Given the description of an element on the screen output the (x, y) to click on. 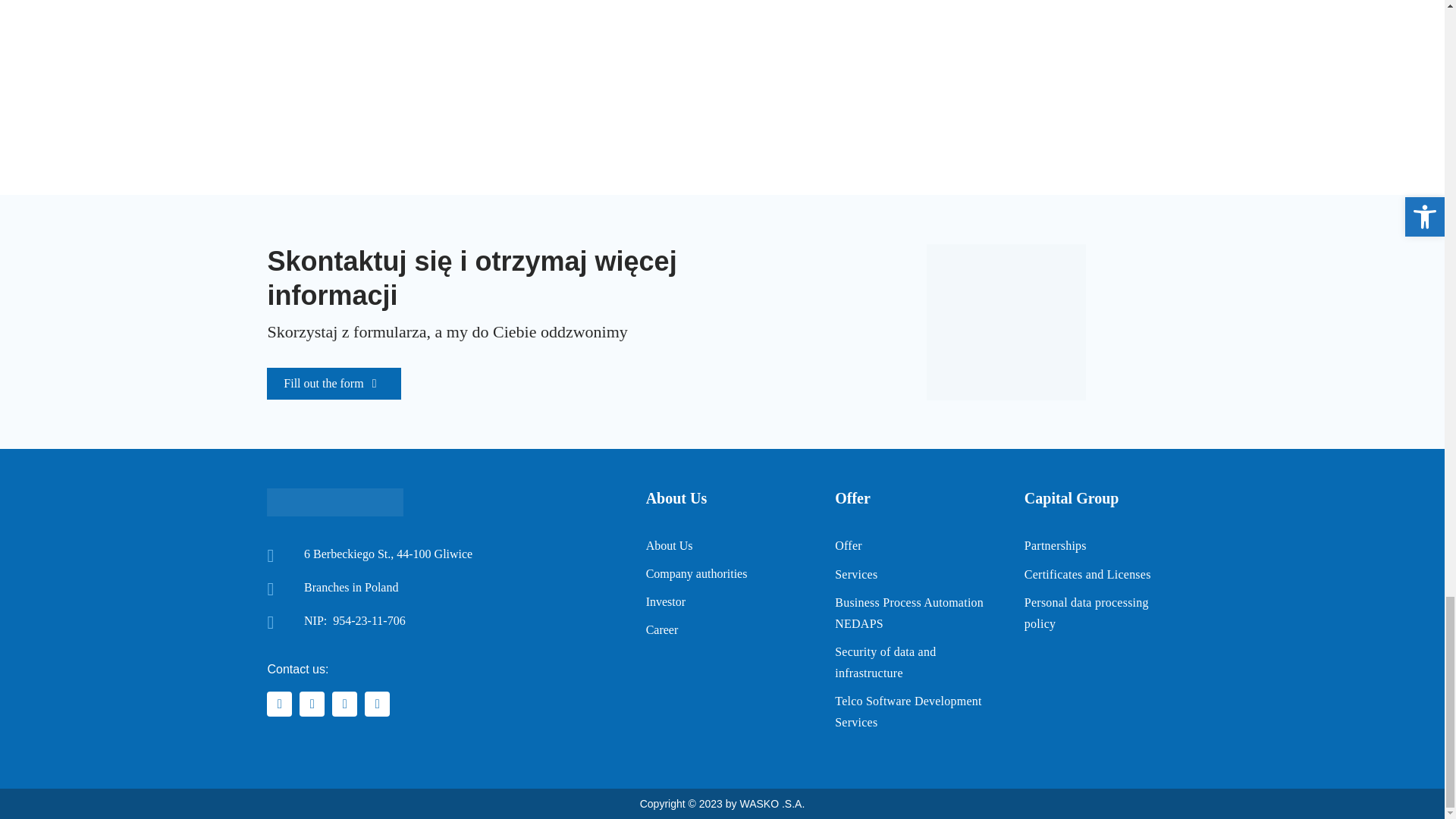
Facebook (311, 703)
logo-wasko-white (334, 502)
LinkedIn (343, 703)
Phone (377, 703)
Email (279, 703)
